Given the description of an element on the screen output the (x, y) to click on. 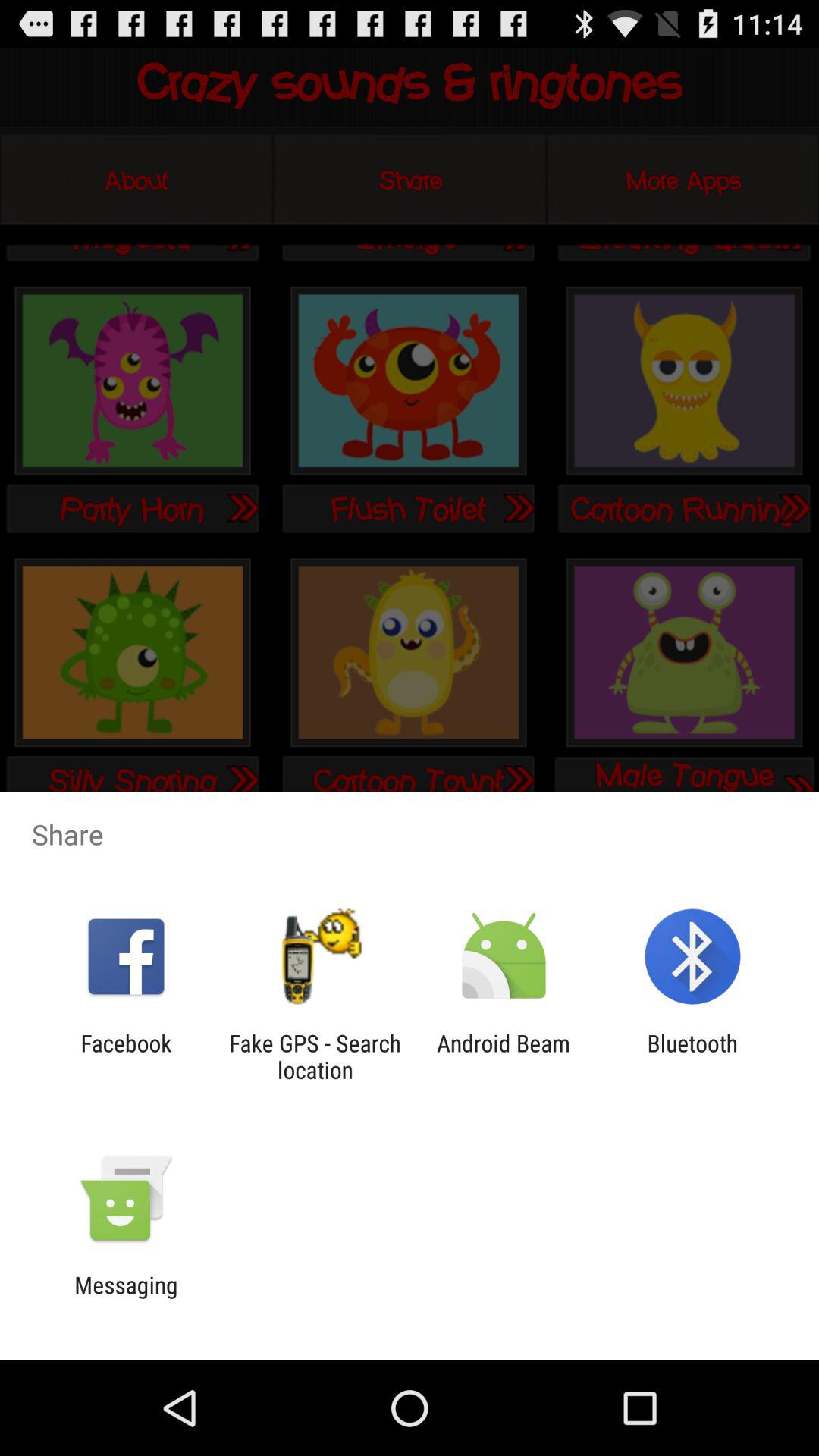
select the app to the right of the facebook item (314, 1056)
